Given the description of an element on the screen output the (x, y) to click on. 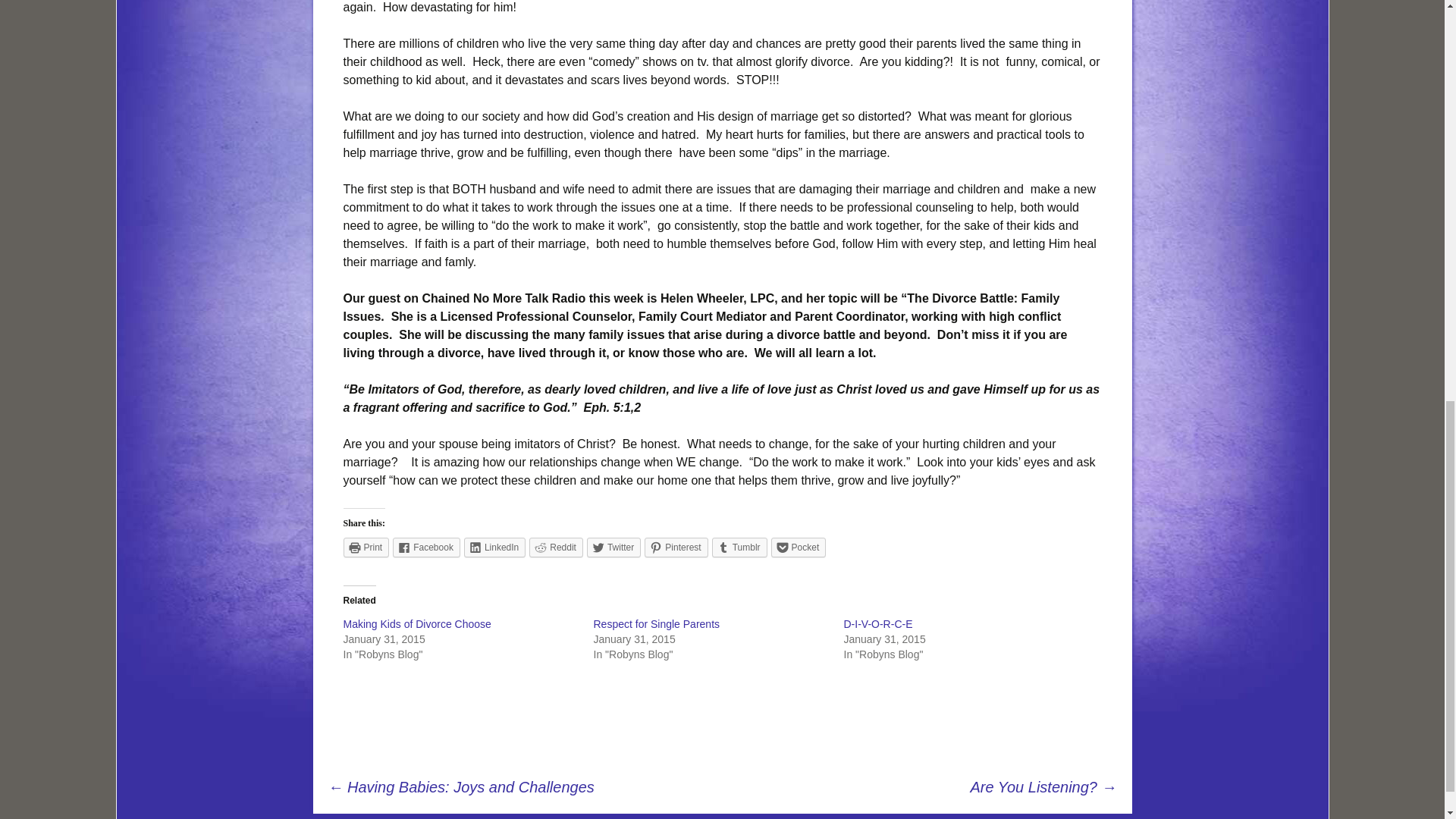
Click to share on Facebook (426, 547)
Twitter (613, 547)
Click to share on LinkedIn (494, 547)
Facebook (426, 547)
LinkedIn (494, 547)
Pinterest (676, 547)
Click to share on Pocket (799, 547)
Click to share on Twitter (613, 547)
Print (365, 547)
Click to print (365, 547)
Respect for Single Parents (655, 623)
Click to share on Reddit (556, 547)
Click to share on Pinterest (676, 547)
D-I-V-O-R-C-E (877, 623)
Tumblr (739, 547)
